Given the description of an element on the screen output the (x, y) to click on. 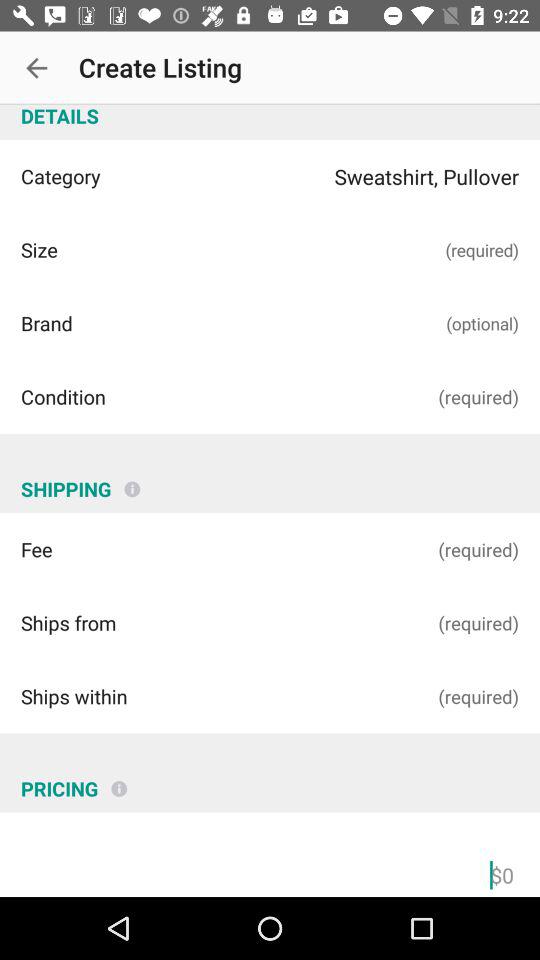
press item above (required) (132, 481)
